Given the description of an element on the screen output the (x, y) to click on. 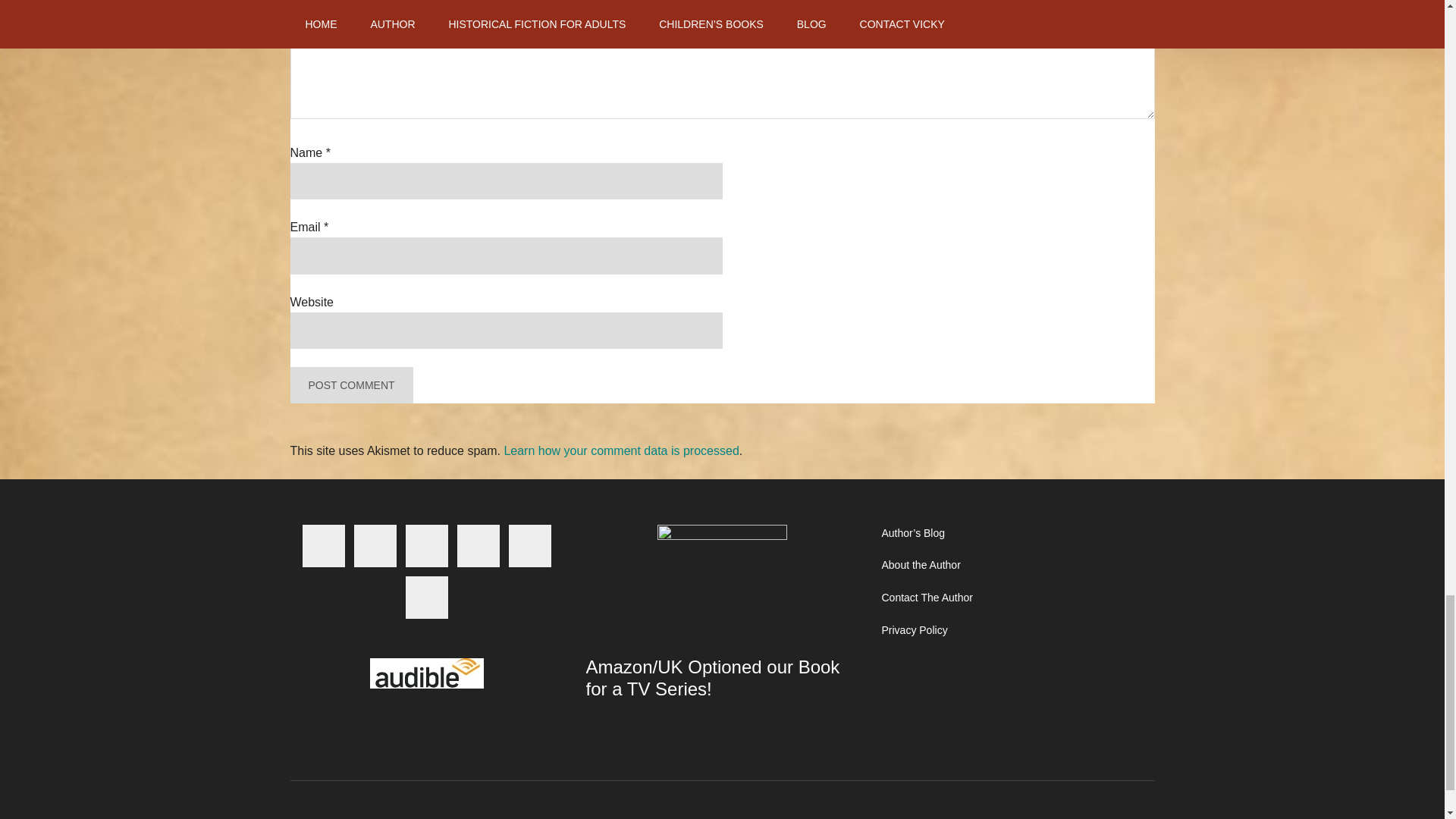
Post Comment (350, 384)
Post Comment (350, 384)
Learn how your comment data is processed (620, 450)
